Given the description of an element on the screen output the (x, y) to click on. 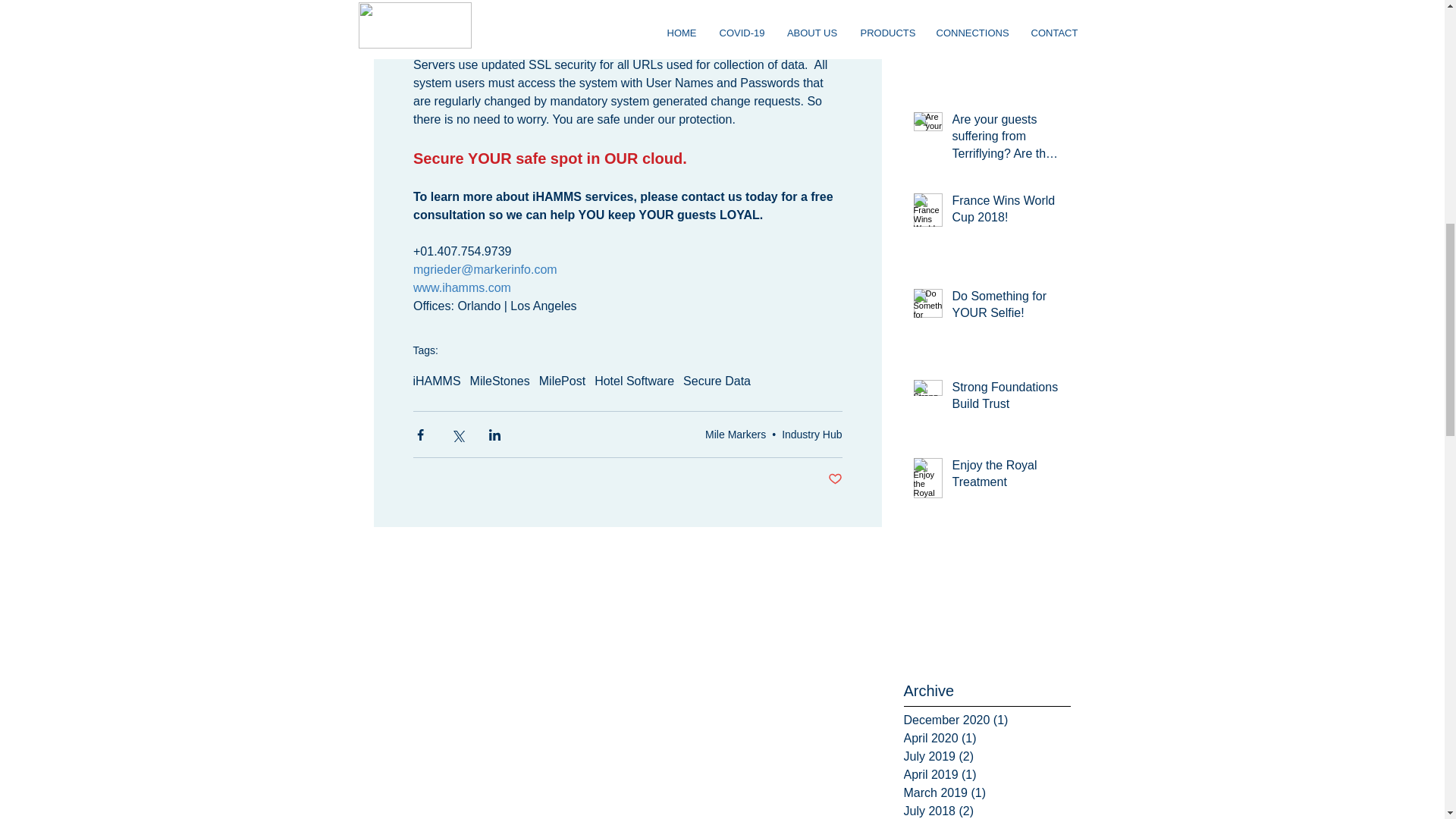
iHAMMS (436, 381)
Hotel Software (634, 381)
Industry Hub (811, 434)
MilePost (561, 381)
The AWE of Notre Dame (1006, 30)
Secure Data (716, 381)
Post not marked as liked (835, 479)
Do Something for YOUR Selfie! (1006, 308)
France Wins World Cup 2018! (1006, 212)
MileStones (499, 381)
Mile Markers (734, 434)
www.ihamms.com (461, 287)
